Given the description of an element on the screen output the (x, y) to click on. 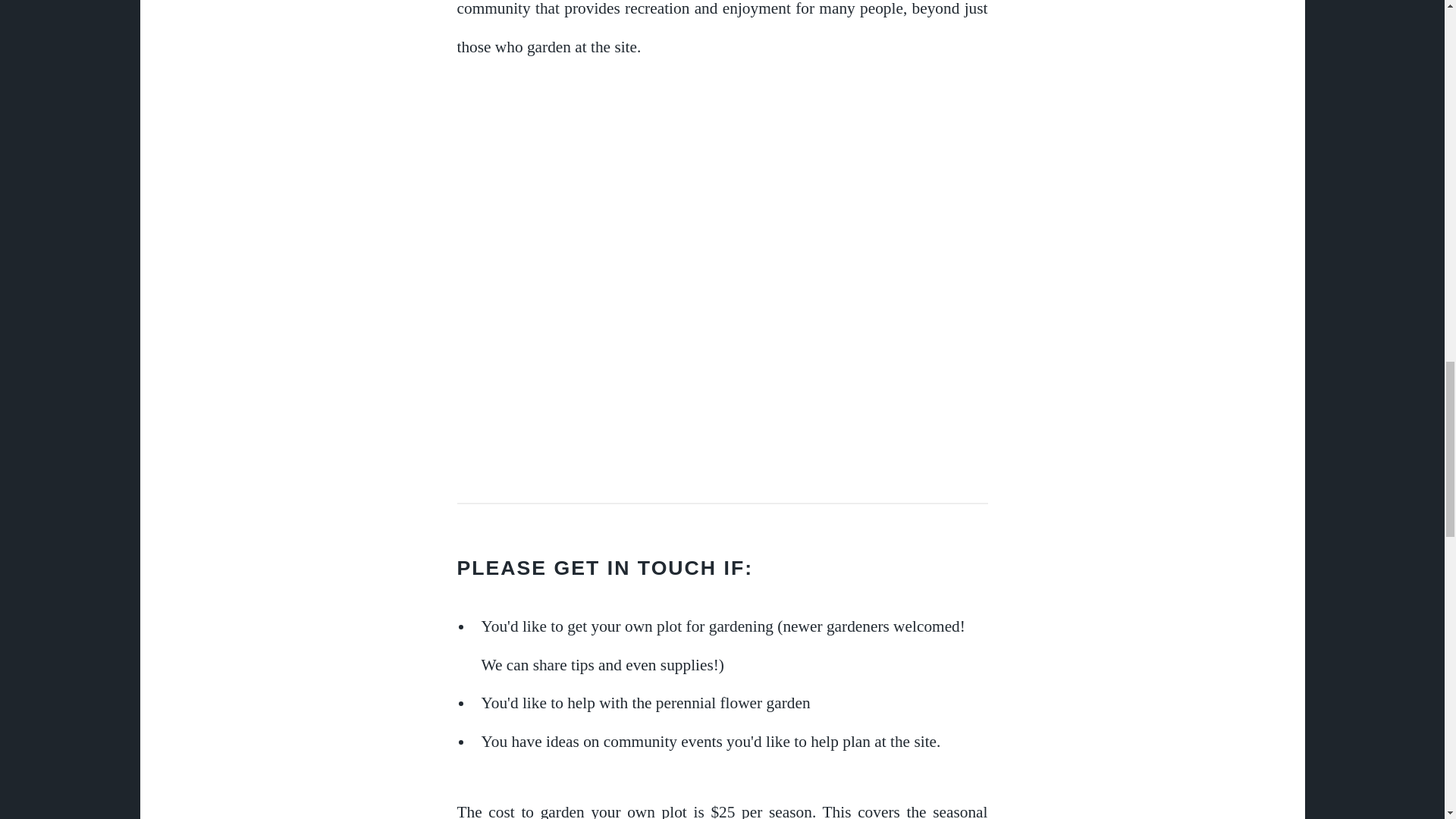
GET IN TOUCH (635, 567)
